Given the description of an element on the screen output the (x, y) to click on. 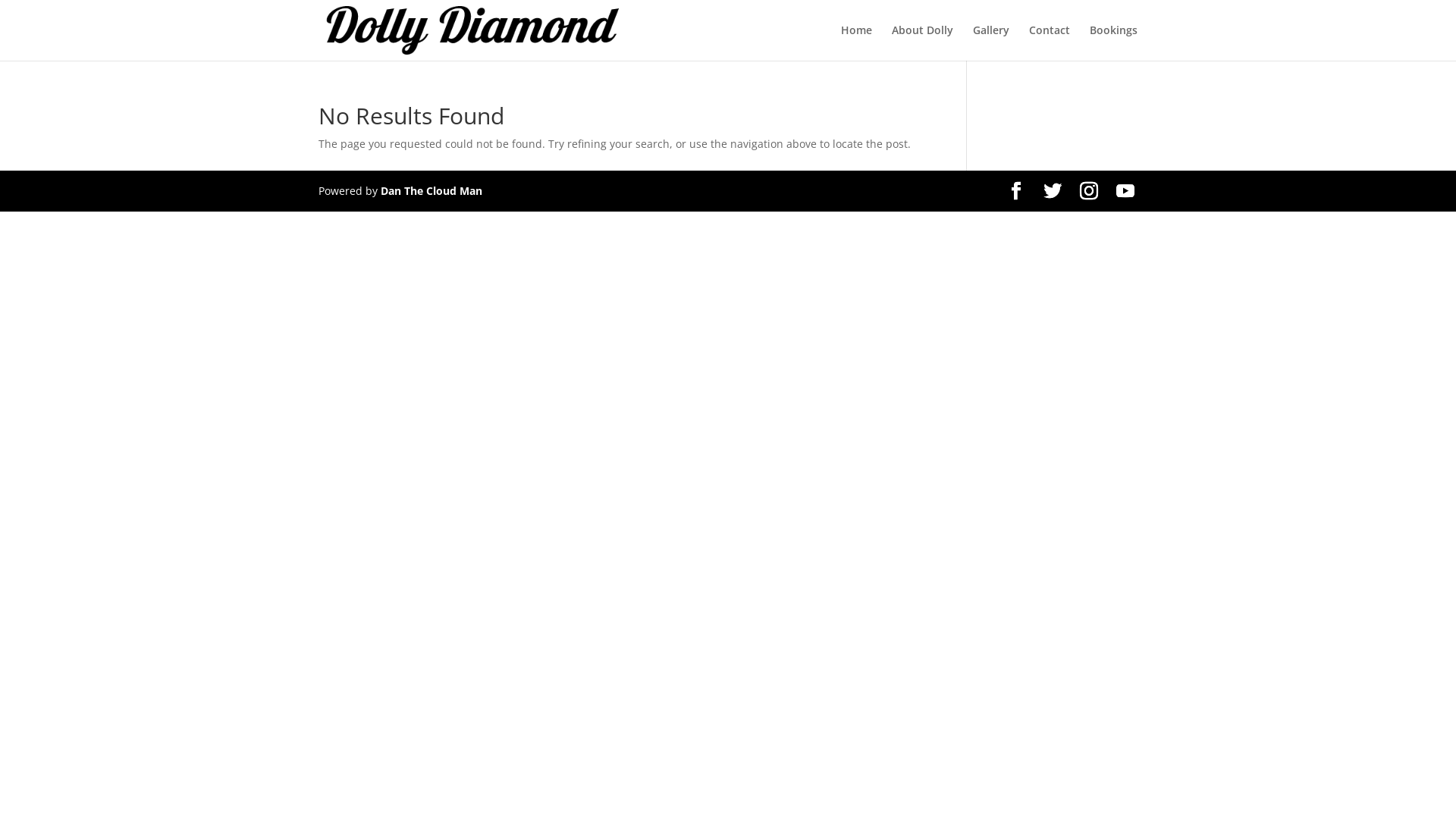
Dan The Cloud Man Element type: text (431, 190)
Gallery Element type: text (990, 42)
Contact Element type: text (1049, 42)
About Dolly Element type: text (922, 42)
Home Element type: text (856, 42)
Bookings Element type: text (1113, 42)
